Given the description of an element on the screen output the (x, y) to click on. 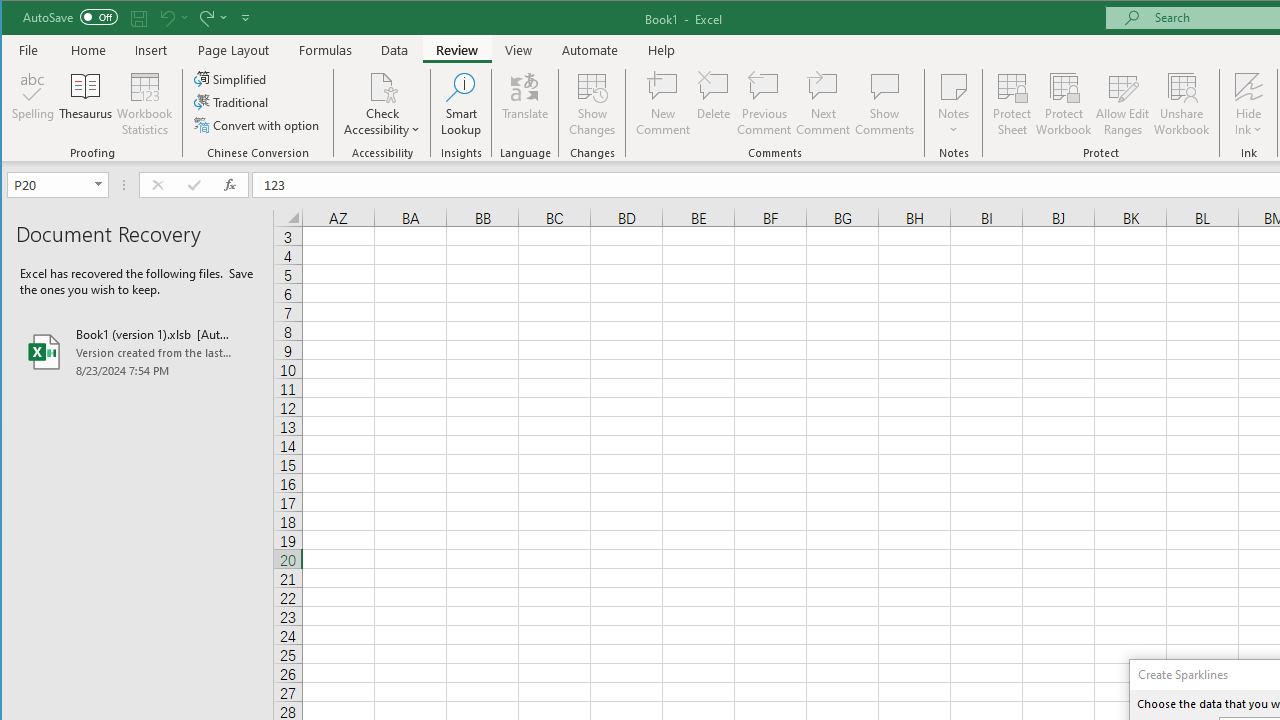
Data (395, 50)
More Options (1248, 123)
